Given the description of an element on the screen output the (x, y) to click on. 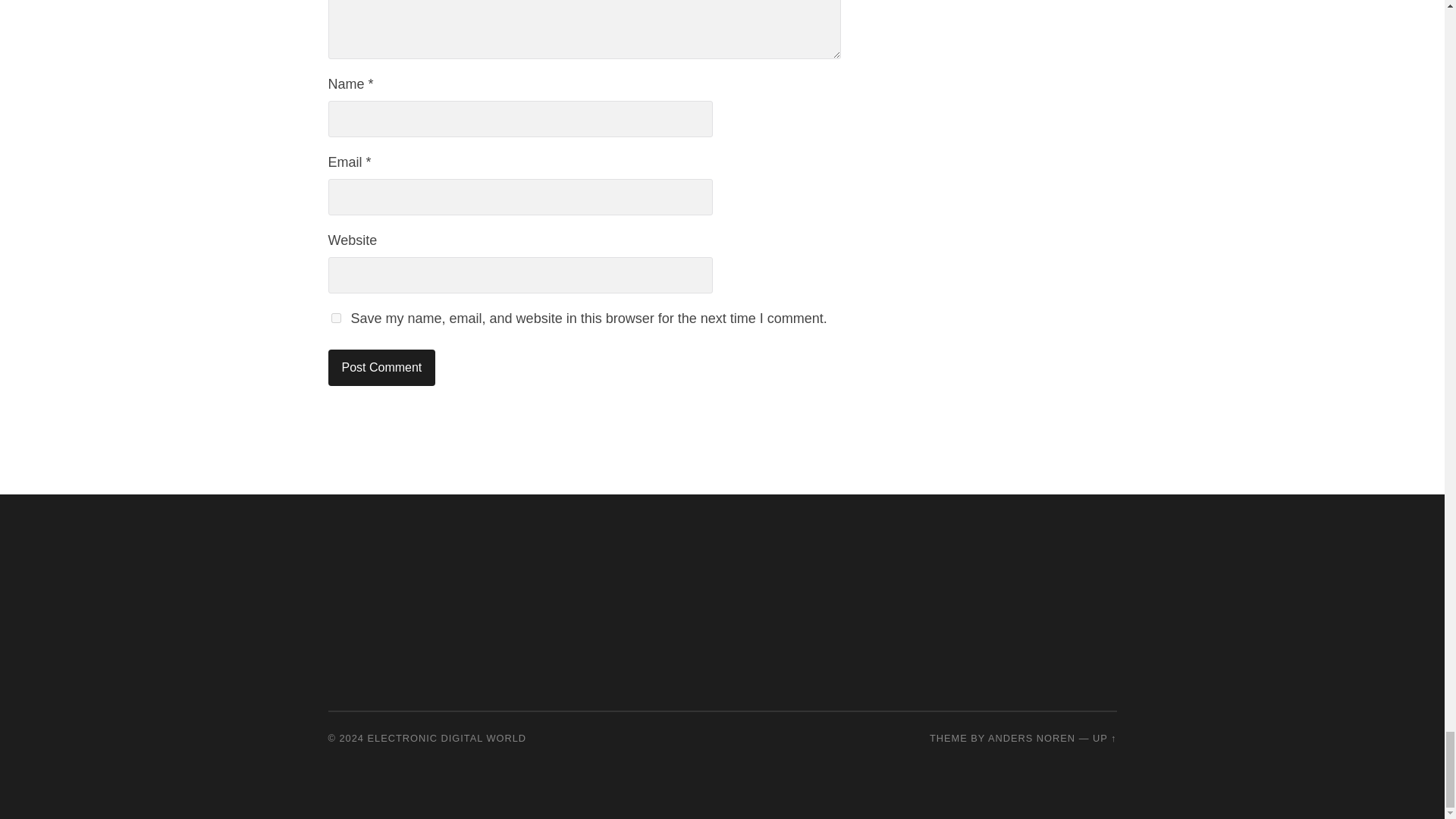
Post Comment (381, 367)
To the top (1104, 737)
Post Comment (381, 367)
yes (335, 317)
